Given the description of an element on the screen output the (x, y) to click on. 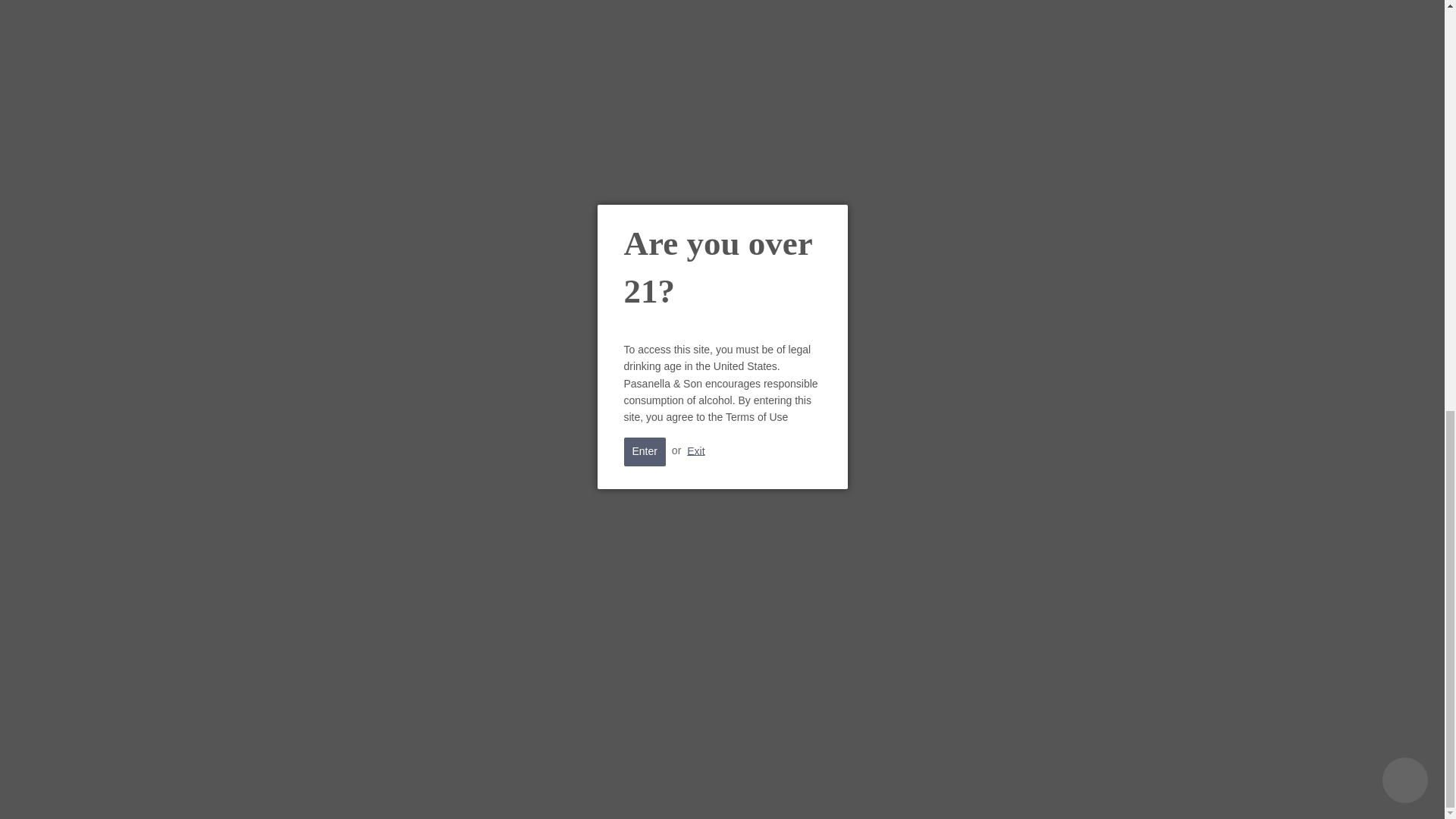
MASTERCARD (764, 782)
Subscribe (987, 657)
DISCOVER (635, 782)
PAYPAL (807, 782)
AMERICAN EXPRESS (507, 782)
APPLE PAY (549, 782)
GOOGLE PAY (721, 782)
VENMO (894, 782)
DINERS CLUB (592, 782)
META PAY (679, 782)
SHOP PAY (851, 782)
VISA (937, 782)
